Given the description of an element on the screen output the (x, y) to click on. 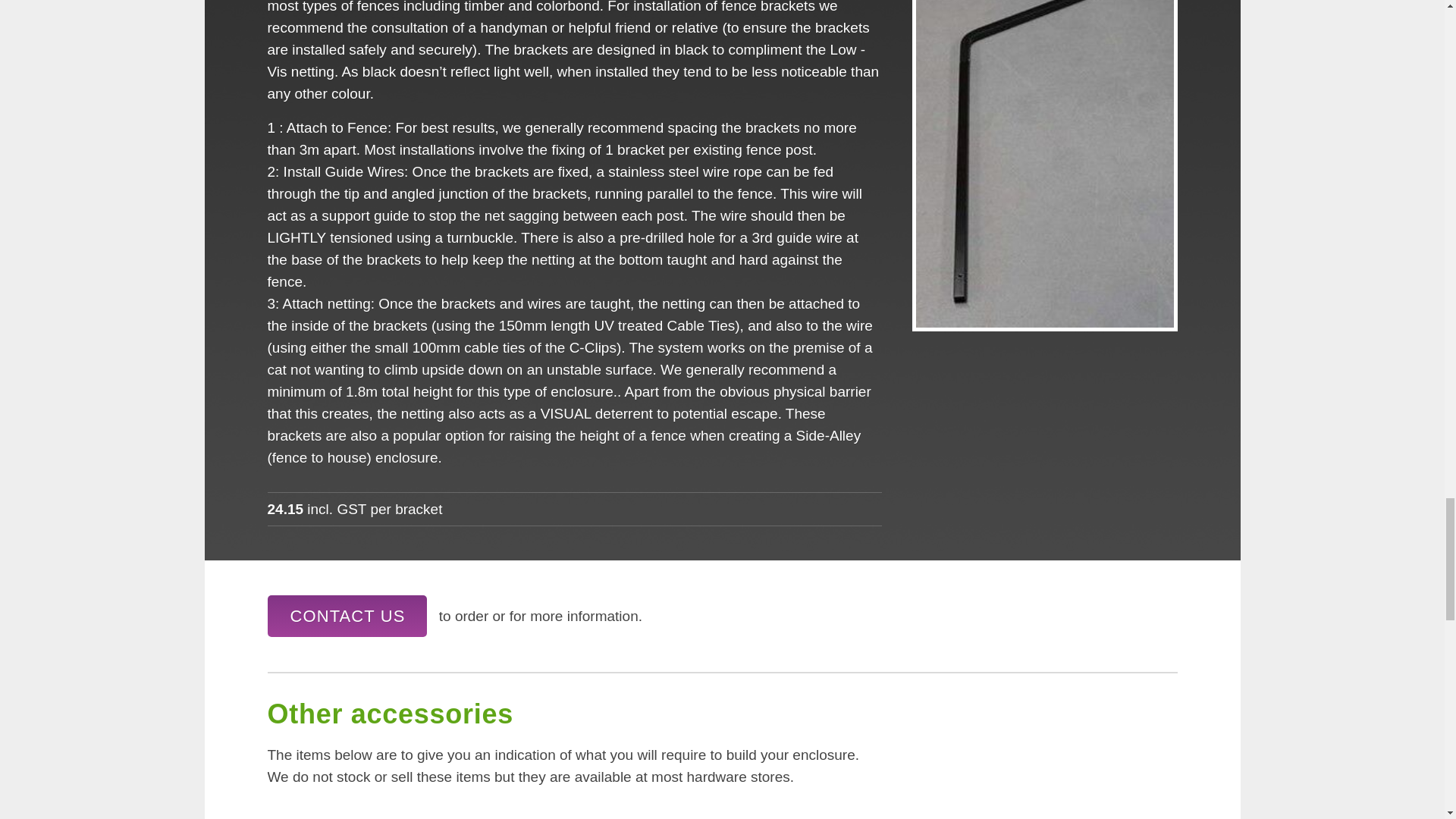
CONTACT US (346, 616)
